Given the description of an element on the screen output the (x, y) to click on. 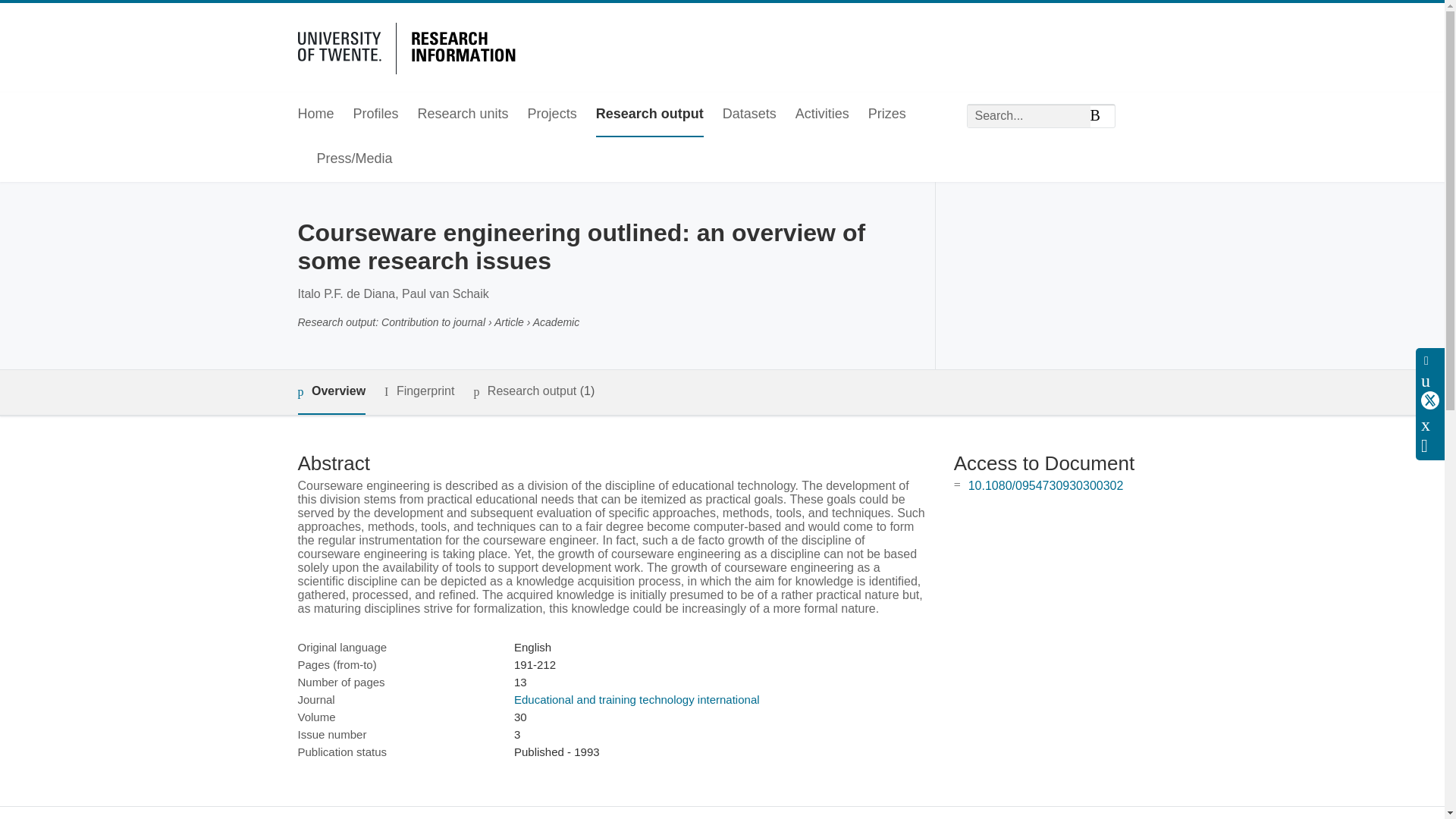
University of Twente Research Information Home (409, 45)
Datasets (749, 114)
Profiles (375, 114)
Educational and training technology international (636, 698)
Overview (331, 392)
Activities (821, 114)
Projects (551, 114)
Fingerprint (419, 391)
Research output (649, 114)
